Given the description of an element on the screen output the (x, y) to click on. 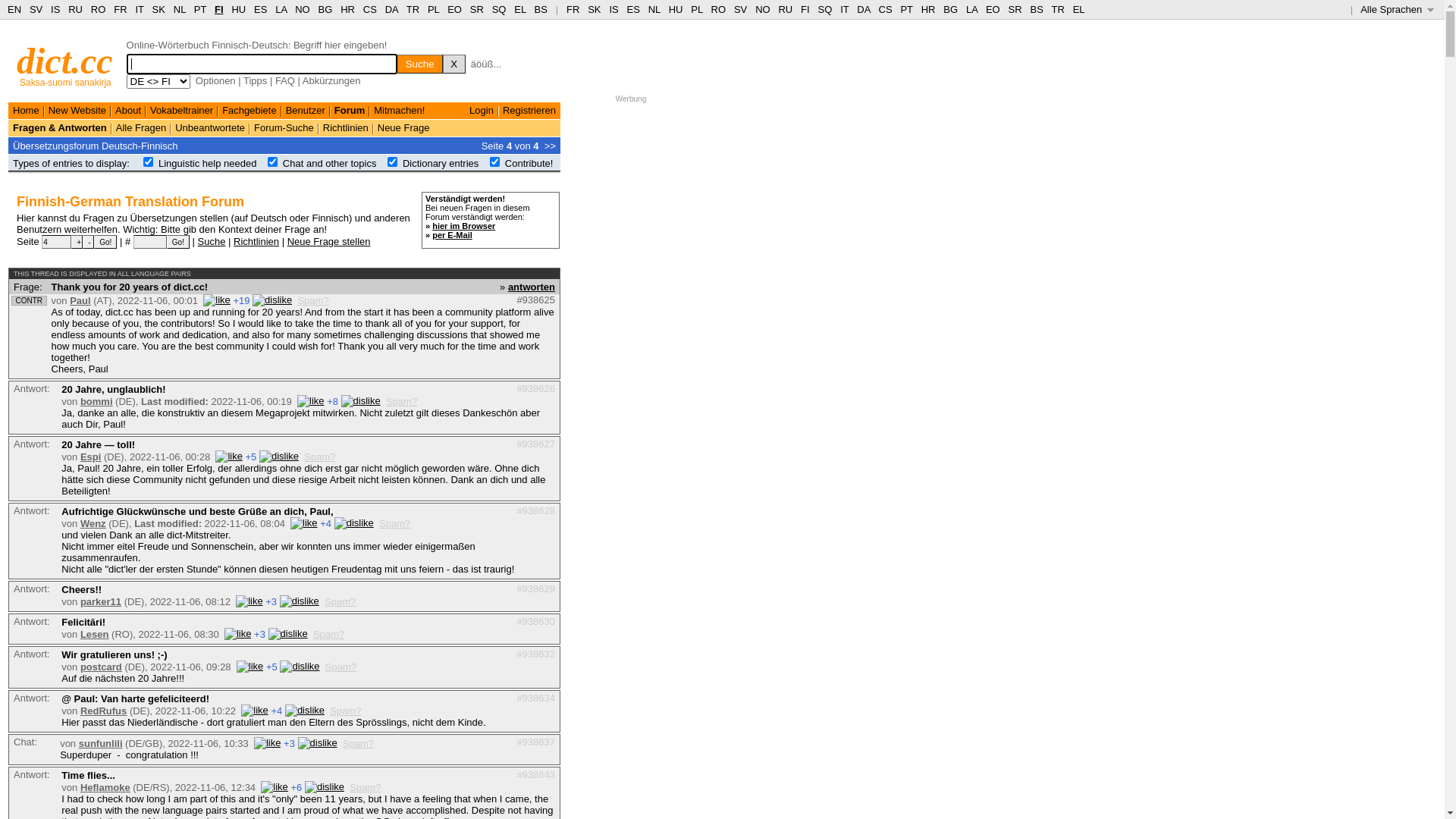
EL Element type: text (519, 9)
Wenz Element type: text (93, 523)
Unbeantwortete Element type: text (209, 127)
+5 Element type: text (271, 666)
Spam? Element type: text (312, 300)
#938626 Element type: text (535, 387)
IS Element type: text (54, 9)
Paul Element type: text (79, 300)
CS Element type: text (369, 9)
LA Element type: text (971, 9)
BG Element type: text (950, 9)
Spam? Element type: text (401, 401)
#938625 Element type: text (535, 299)
PL Element type: text (696, 9)
Richtlinien Element type: text (345, 127)
New Website Element type: text (77, 110)
Benutzer Element type: text (305, 110)
CONTR Element type: text (28, 300)
EN Element type: text (14, 9)
BS Element type: text (1035, 9)
Mitmachen! Element type: text (398, 110)
Suche Element type: text (419, 63)
RO Element type: text (98, 9)
Forum Element type: text (349, 110)
BG Element type: text (325, 9)
Go! Element type: text (105, 241)
+3 Element type: text (288, 743)
#938628 Element type: text (535, 510)
#938630 Element type: text (535, 621)
Neue Frage Element type: text (403, 127)
RedRufus Element type: text (103, 710)
#938637 Element type: text (535, 741)
SR Element type: text (1015, 9)
HR Element type: text (347, 9)
SV Element type: text (740, 9)
RU Element type: text (75, 9)
antworten Element type: text (531, 285)
+19 Element type: text (240, 300)
#938643 Element type: text (535, 774)
Go! Element type: text (177, 241)
Alle Sprachen  Element type: text (1397, 9)
SQ Element type: text (499, 9)
Registrieren Element type: text (528, 110)
HU Element type: text (238, 9)
FI Element type: text (218, 9)
parker11 Element type: text (100, 601)
Fragen & Antworten Element type: text (59, 127)
Spam? Element type: text (328, 634)
IS Element type: text (613, 9)
SV Element type: text (35, 9)
SQ Element type: text (824, 9)
Spam? Element type: text (340, 666)
Spam? Element type: text (394, 523)
Tipps Element type: text (254, 80)
EO Element type: text (454, 9)
Chat and other topics Element type: text (329, 163)
EO Element type: text (992, 9)
Suche Element type: text (211, 240)
Optionen Element type: text (215, 80)
CS Element type: text (884, 9)
#938627 Element type: text (535, 443)
Heflamoke Element type: text (105, 787)
FI Element type: text (804, 9)
HU Element type: text (675, 9)
sunfunlili Element type: text (100, 743)
+3 Element type: text (259, 634)
Richtlinien Element type: text (256, 240)
#938632 Element type: text (535, 652)
SK Element type: text (158, 9)
NL Element type: text (654, 9)
Espi Element type: text (90, 456)
IT Element type: text (138, 9)
About Element type: text (128, 110)
EL Element type: text (1079, 9)
#938634 Element type: text (535, 696)
Dictionary entries Element type: text (440, 163)
postcard Element type: text (101, 666)
PT Element type: text (200, 9)
Neue Frage stellen Element type: text (328, 240)
+4 Element type: text (276, 710)
+6 Element type: text (295, 787)
Home Element type: text (25, 110)
Linguistic help needed Element type: text (207, 163)
Spam? Element type: text (319, 456)
dict.cc Element type: text (64, 60)
bommi Element type: text (96, 401)
PT Element type: text (906, 9)
RO Element type: text (718, 9)
Spam? Element type: text (344, 710)
Login Element type: text (481, 110)
PL Element type: text (433, 9)
LA Element type: text (280, 9)
X Element type: text (453, 63)
TR Element type: text (1057, 9)
Alle Fragen Element type: text (141, 127)
DA Element type: text (391, 9)
HR Element type: text (928, 9)
IT Element type: text (844, 9)
Spam? Element type: text (364, 787)
NO Element type: text (762, 9)
NL Element type: text (179, 9)
Spam? Element type: text (339, 601)
+4 Element type: text (325, 523)
on Element type: text (148, 161)
Lesen Element type: text (94, 634)
SR Element type: text (476, 9)
Finnish-German Translation Forum Element type: text (130, 201)
#938629 Element type: text (535, 587)
FAQ Element type: text (284, 80)
ES Element type: text (260, 9)
+5 Element type: text (251, 456)
>> Element type: text (549, 144)
FR Element type: text (572, 9)
ES Element type: text (633, 9)
NO Element type: text (302, 9)
Spam? Element type: text (357, 743)
Contribute! Element type: text (529, 163)
DA Element type: text (862, 9)
on Element type: text (272, 161)
+3 Element type: text (270, 601)
on Element type: text (494, 161)
SK Element type: text (593, 9)
BS Element type: text (540, 9)
+8 Element type: text (332, 401)
Vokabeltrainer Element type: text (181, 110)
Fachgebiete Element type: text (249, 110)
Forum-Suche Element type: text (283, 127)
FR Element type: text (119, 9)
on Element type: text (392, 161)
RU Element type: text (785, 9)
TR Element type: text (412, 9)
